Given the description of an element on the screen output the (x, y) to click on. 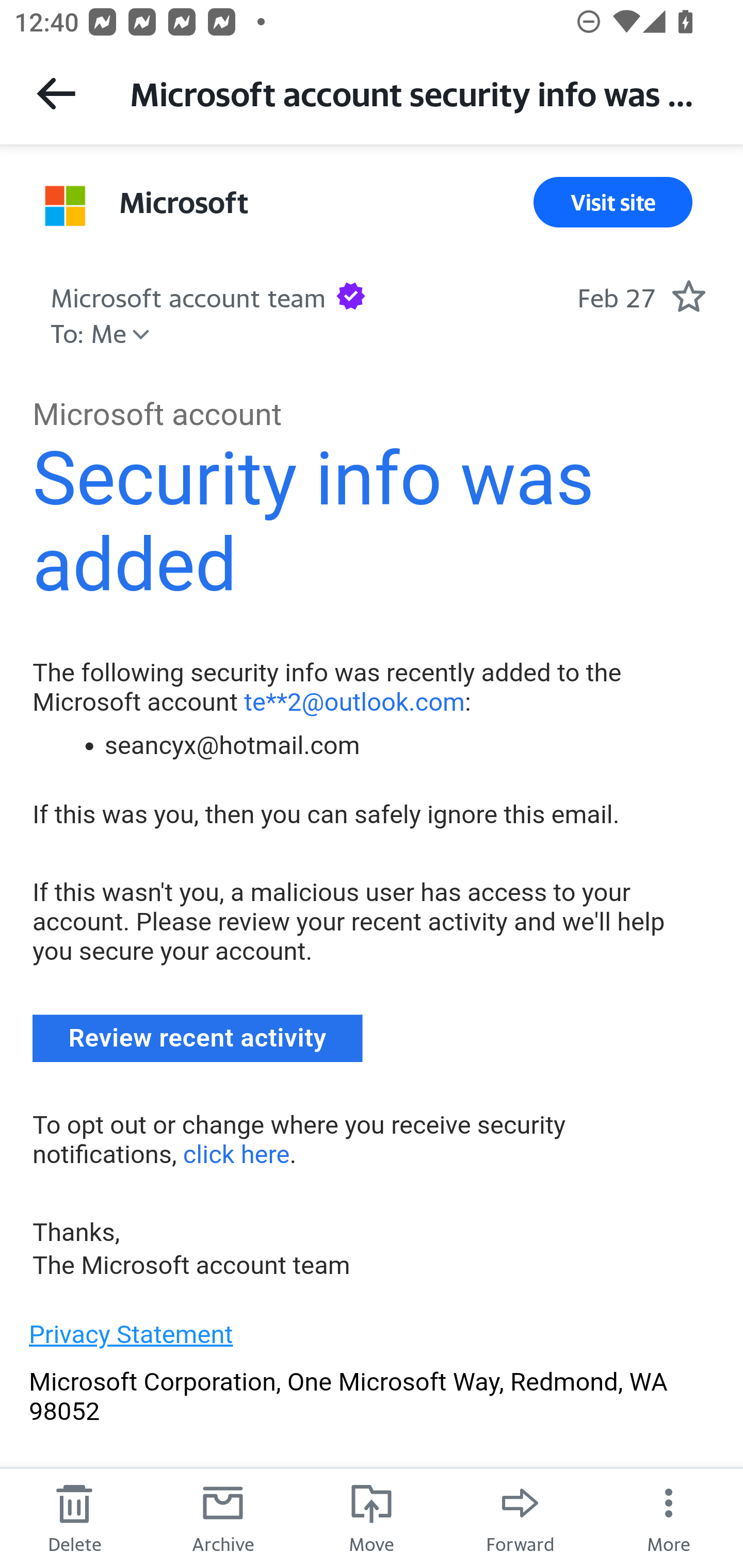
Back (55, 92)
View all messages from sender (64, 206)
Visit site Visit Site Link (612, 202)
Microsoft Sender Microsoft (183, 202)
Mark as starred. (688, 295)
te**2@outlook.com (354, 701)
Review recent activity (197, 1038)
click here (235, 1153)
Privacy Statement (131, 1334)
Delete (74, 1517)
Archive (222, 1517)
Move (371, 1517)
Forward (519, 1517)
More (668, 1517)
